Given the description of an element on the screen output the (x, y) to click on. 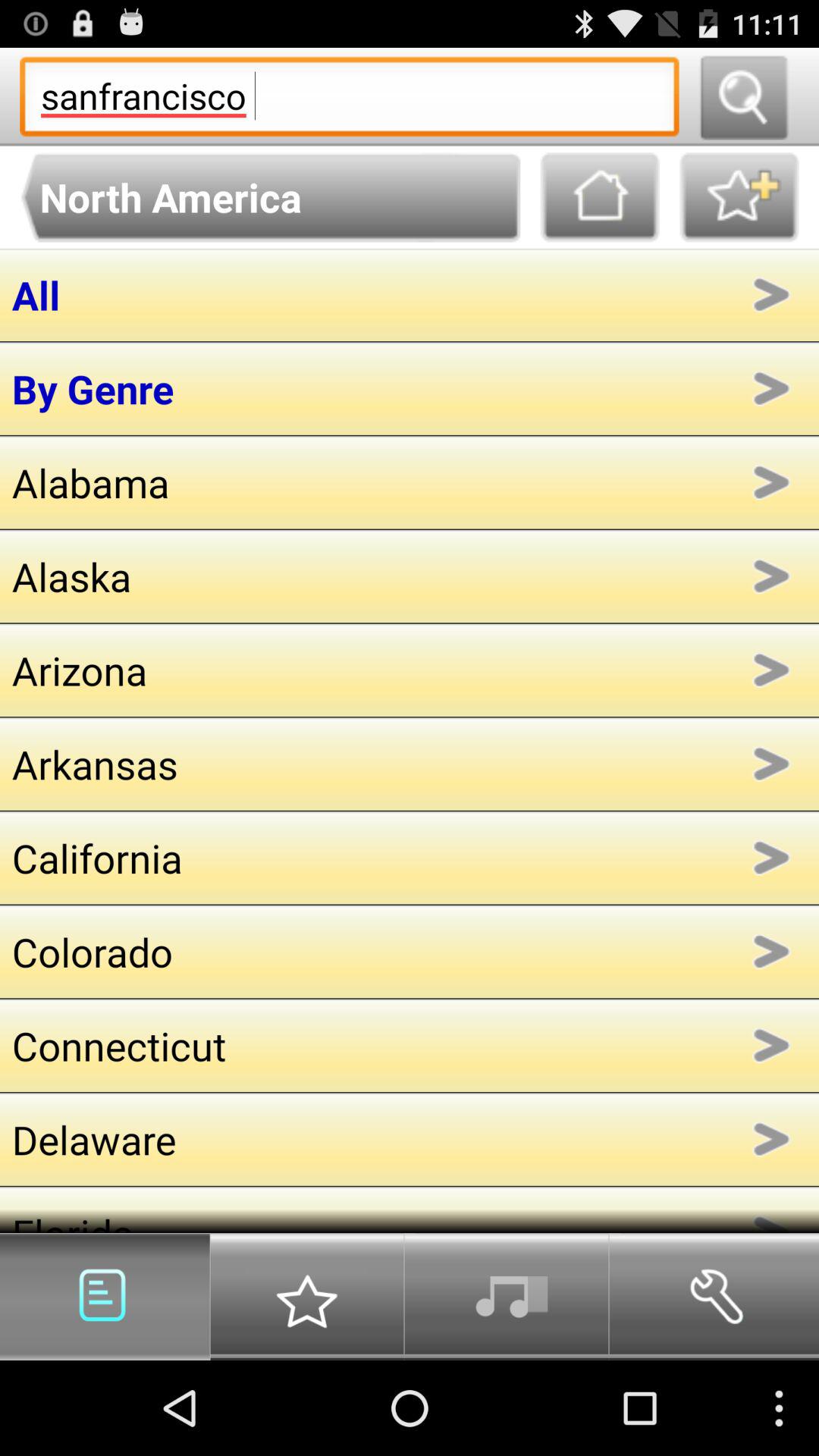
search (743, 96)
